Given the description of an element on the screen output the (x, y) to click on. 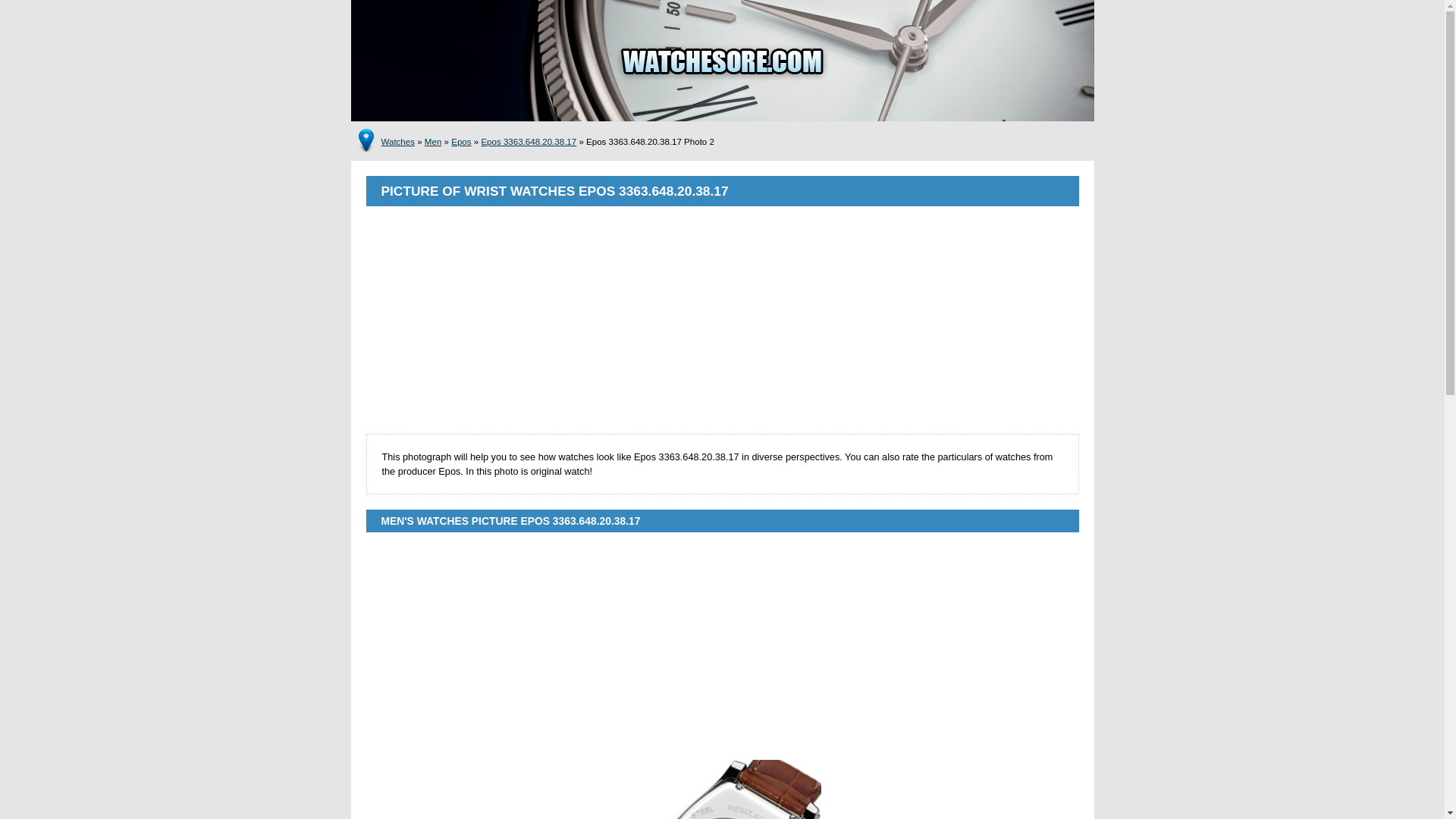
Epos 3363.648.20.38.17 (528, 141)
Men (433, 141)
Epos 3363.648.20.38.17 - 2 picture (721, 785)
Watches (397, 141)
Epos (460, 141)
